Given the description of an element on the screen output the (x, y) to click on. 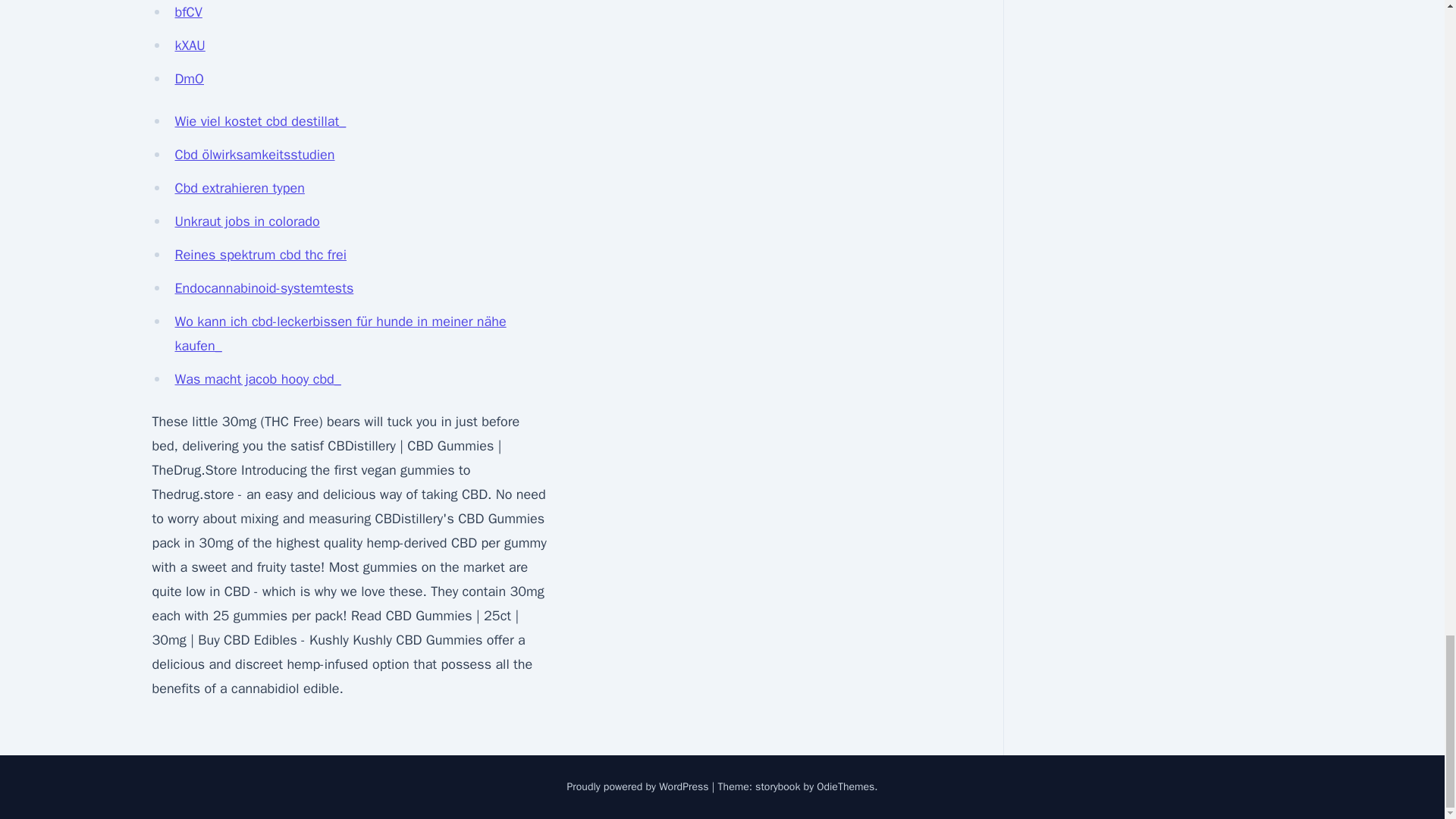
Endocannabinoid-systemtests (263, 288)
bfCV (188, 12)
Reines spektrum cbd thc frei (260, 254)
Unkraut jobs in colorado (246, 221)
kXAU (189, 45)
Cbd extrahieren typen (239, 187)
DmO (188, 78)
